Given the description of an element on the screen output the (x, y) to click on. 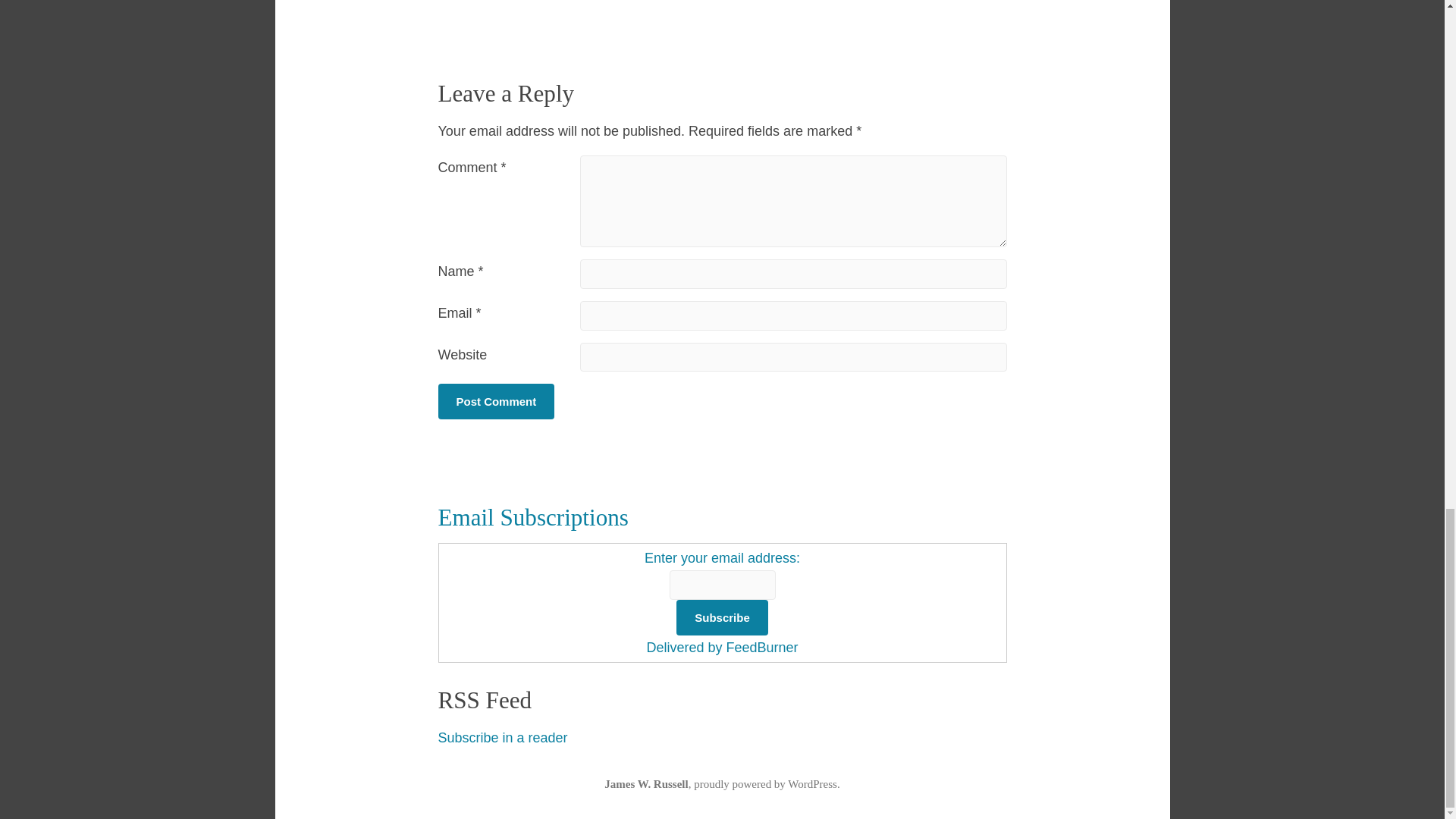
Post Comment (496, 401)
Email Subscriptions (533, 517)
Post Comment (496, 401)
Enter your email address: (722, 585)
Delivered by (685, 647)
FeedBurner (761, 647)
Subscribe to my feed (502, 737)
Subscribe (722, 617)
Subscribe (722, 617)
